Given the description of an element on the screen output the (x, y) to click on. 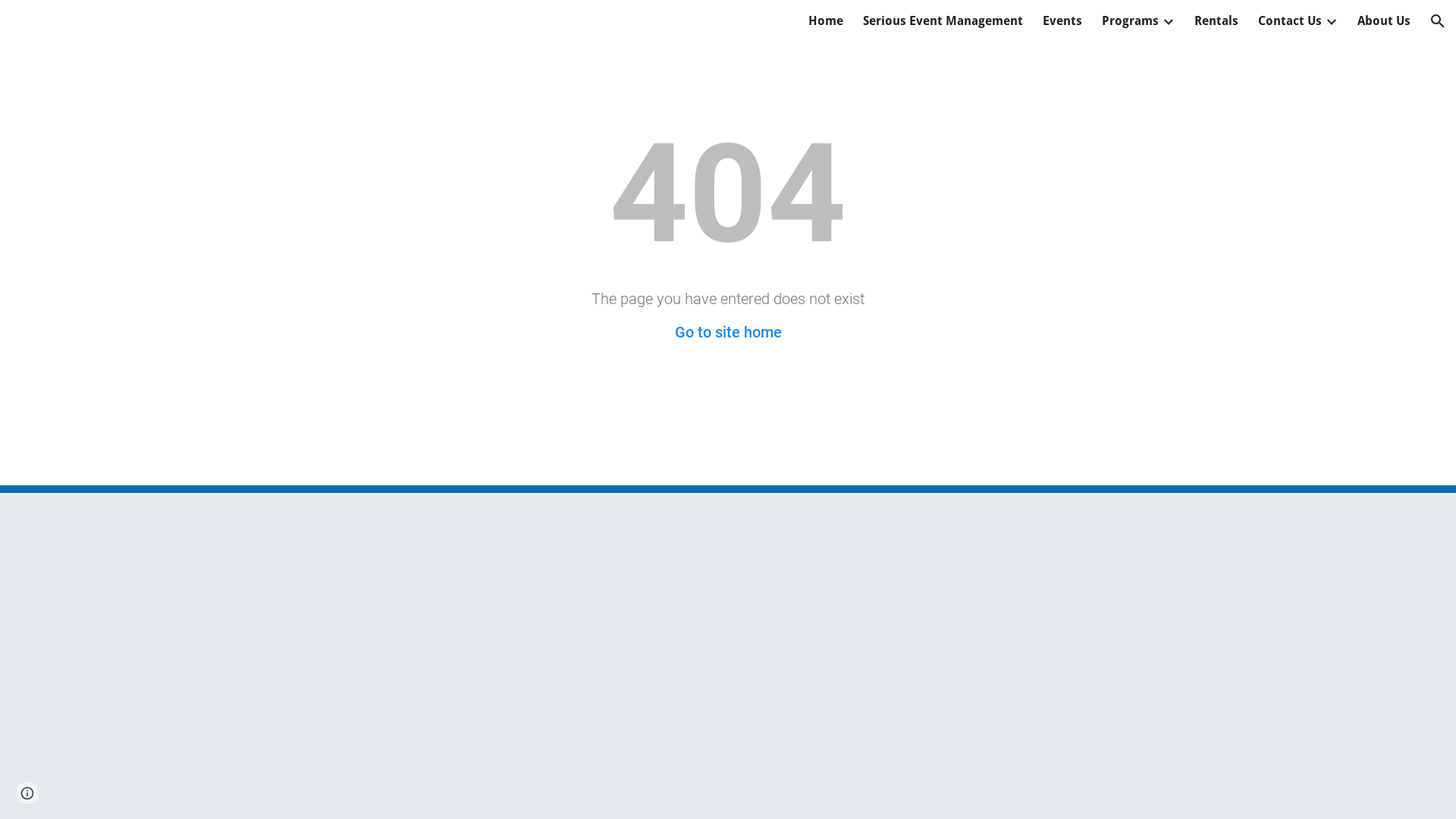
Contact Us Element type: text (1289, 20)
Events Element type: text (1062, 20)
Expand/Collapse Element type: hover (1330, 20)
Go to site home Element type: text (727, 332)
Serious Event Management Element type: text (942, 20)
Home Element type: text (825, 20)
Expand/Collapse Element type: hover (1167, 20)
Rentals Element type: text (1216, 20)
Programs Element type: text (1129, 20)
About Us Element type: text (1383, 20)
